Given the description of an element on the screen output the (x, y) to click on. 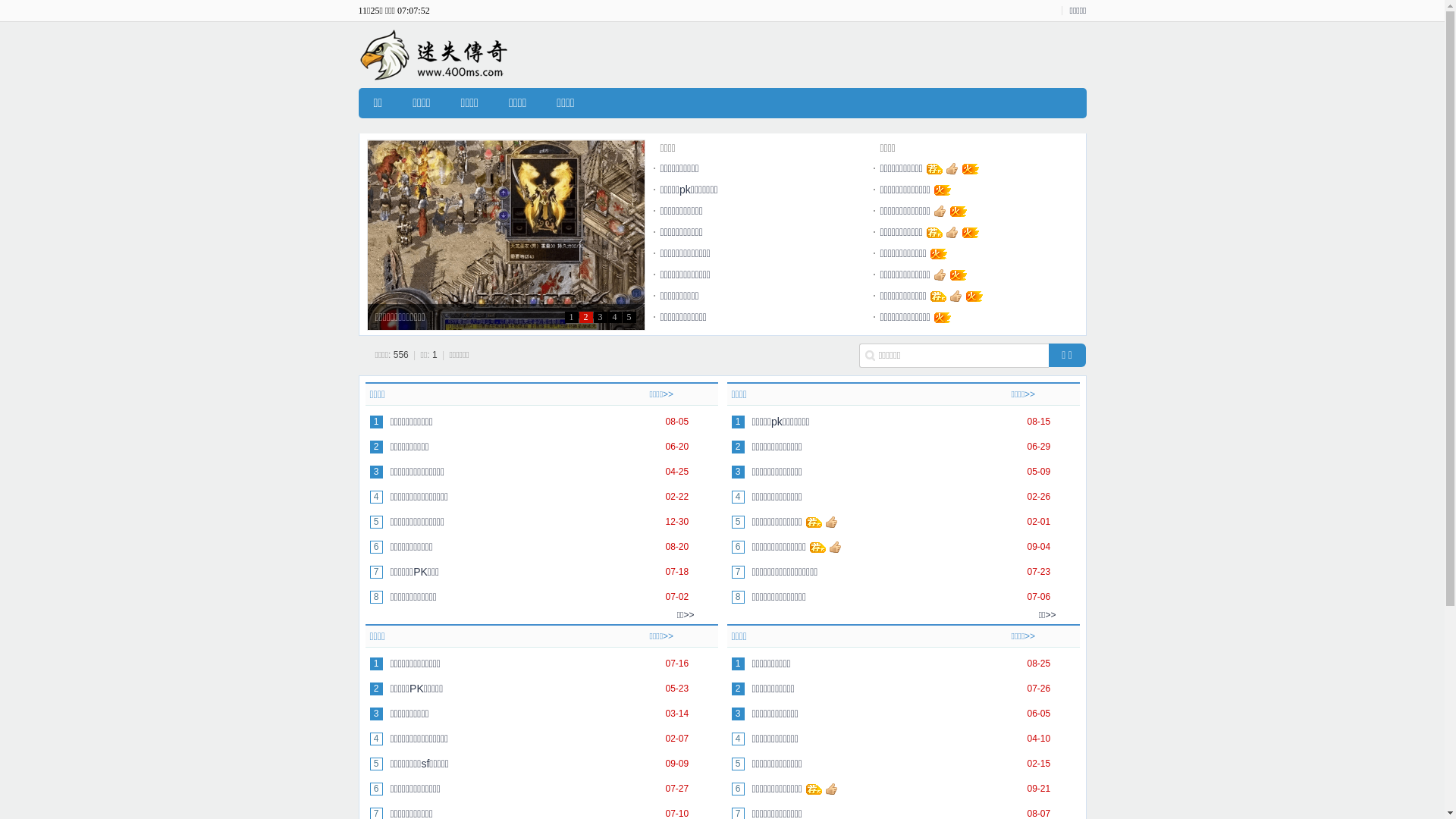
5 Element type: text (628, 317)
2 Element type: text (586, 317)
3 Element type: text (599, 317)
1 Element type: text (570, 317)
4 Element type: text (614, 317)
